Given the description of an element on the screen output the (x, y) to click on. 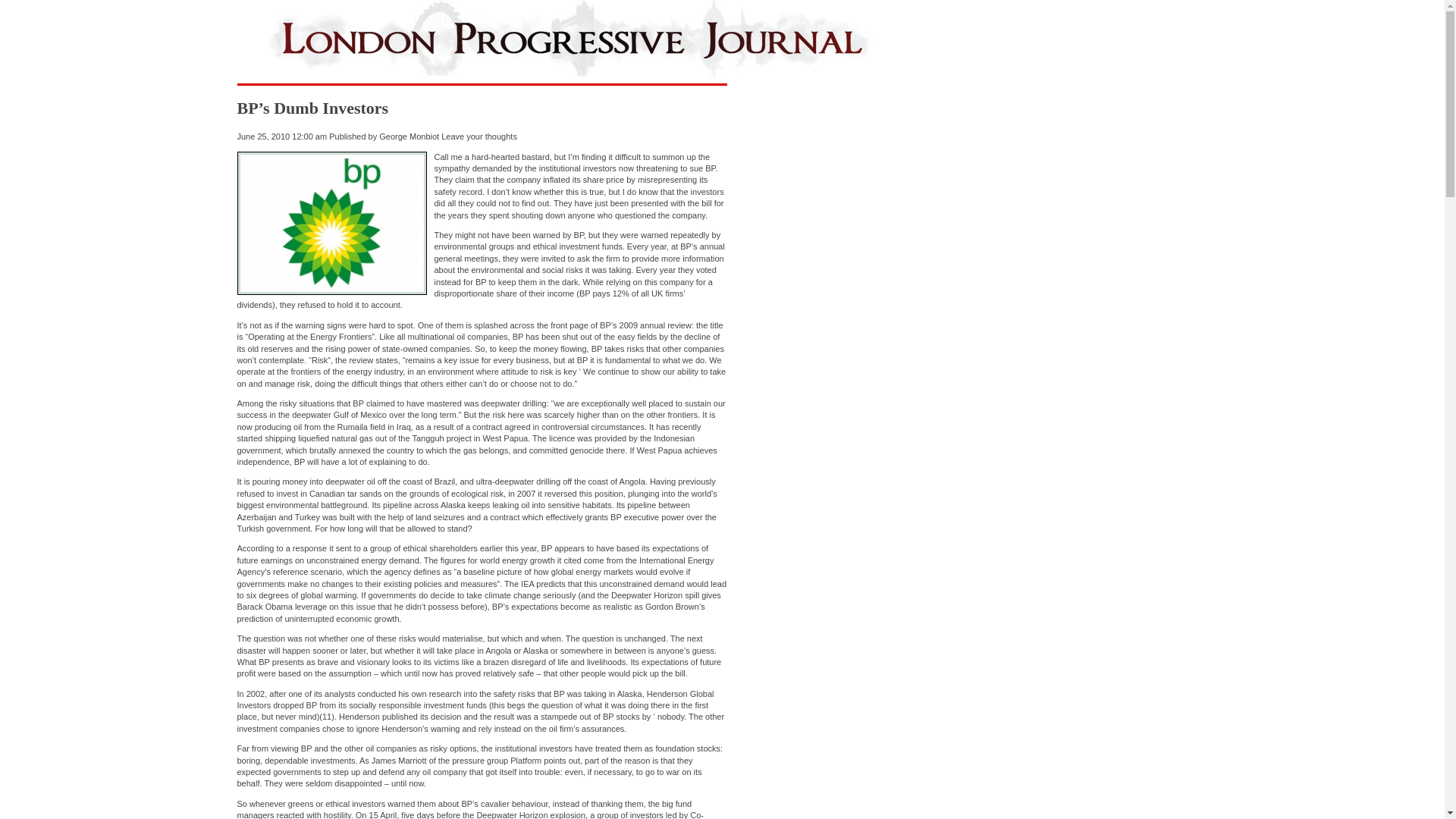
Leave your thoughts (478, 135)
Posts by George Monbiot (408, 135)
George Monbiot (408, 135)
